Given the description of an element on the screen output the (x, y) to click on. 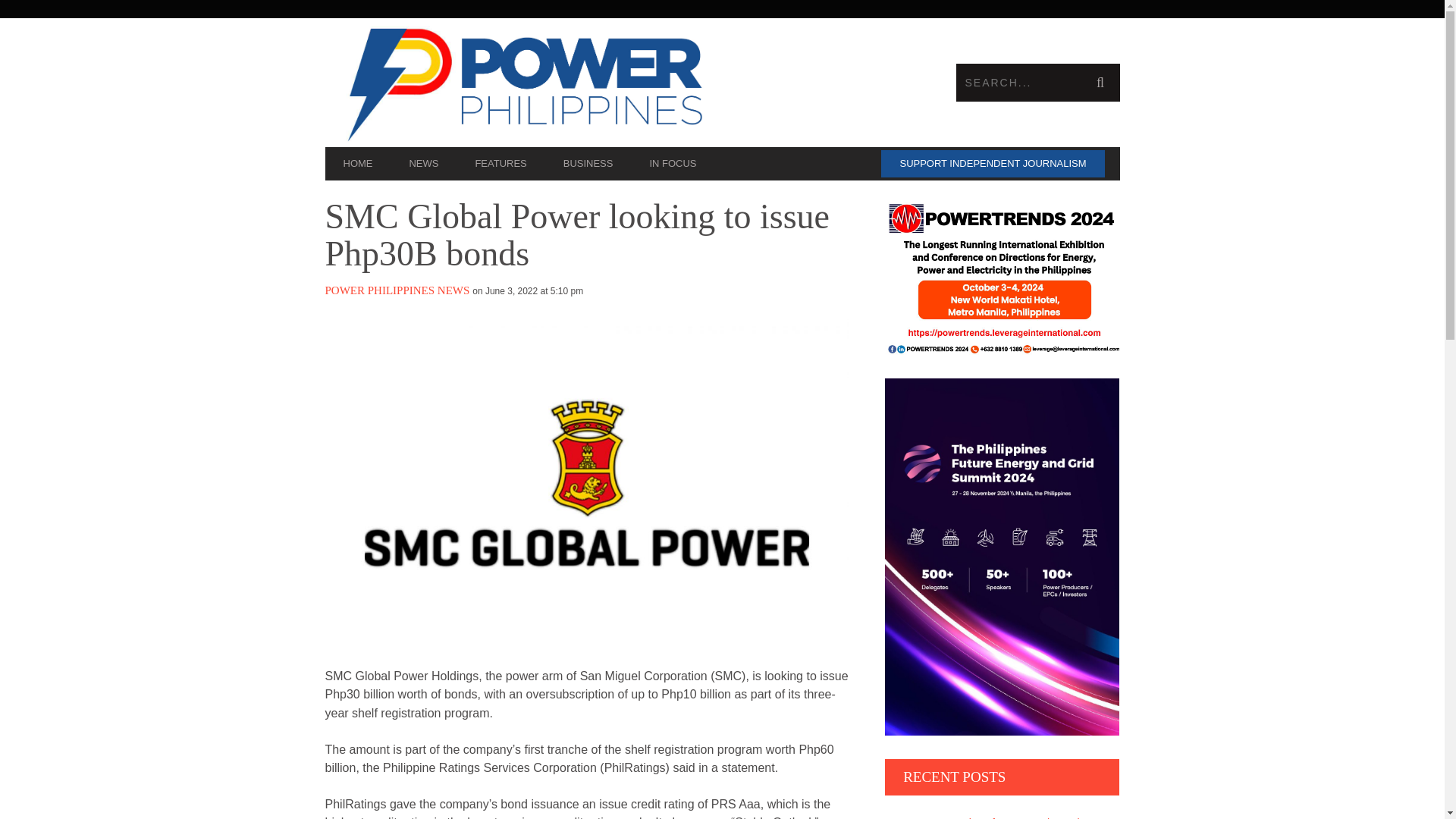
BOI grants green lane for Terra Solar project (1002, 814)
HOME (357, 163)
NEWS (423, 163)
POWER PHILIPPINES NEWS (396, 290)
BUSINESS (587, 163)
FEATURES (500, 163)
Power Philippines (523, 82)
SUPPORT INDEPENDENT JOURNALISM (991, 163)
IN FOCUS (672, 163)
Posts by Power Philippines News (396, 290)
